Given the description of an element on the screen output the (x, y) to click on. 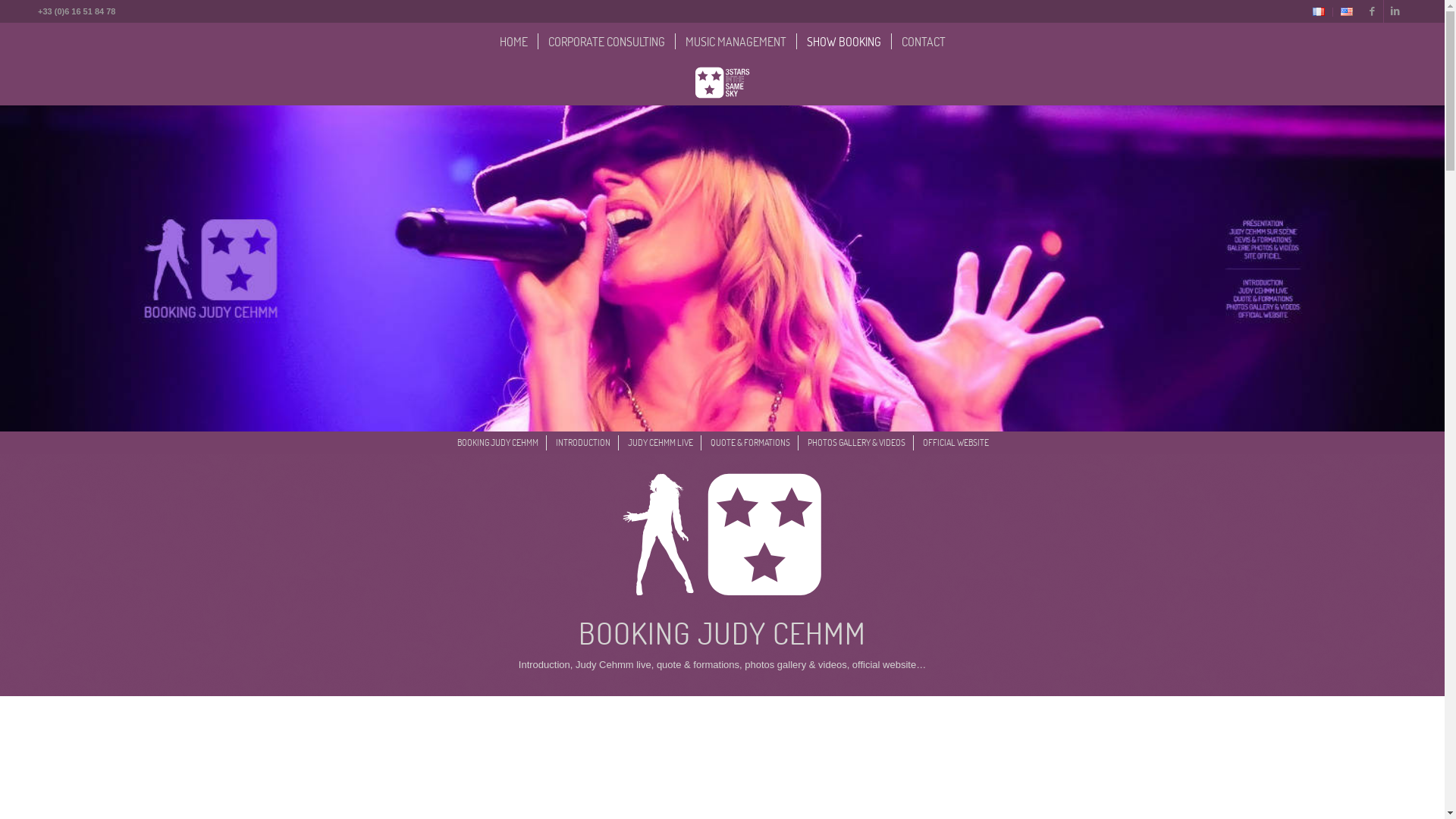
BOOKING JUDY CEHMM Element type: text (497, 442)
CORPORATE CONSULTING Element type: text (605, 41)
MUSIC MANAGEMENT Element type: text (735, 41)
CONTACT Element type: text (922, 41)
PHOTOS GALLERY & VIDEOS Element type: text (855, 442)
QUOTE & FORMATIONS Element type: text (748, 442)
SHOW BOOKING Element type: text (843, 41)
JUDY CEHMM LIVE Element type: text (659, 442)
INTRODUCTION Element type: text (582, 442)
Facebook Element type: hover (1372, 11)
English Element type: hover (1346, 11)
OFFICIAL WEBSITE Element type: text (954, 442)
HOME Element type: text (513, 41)
Linkedin Element type: hover (1394, 11)
